Given the description of an element on the screen output the (x, y) to click on. 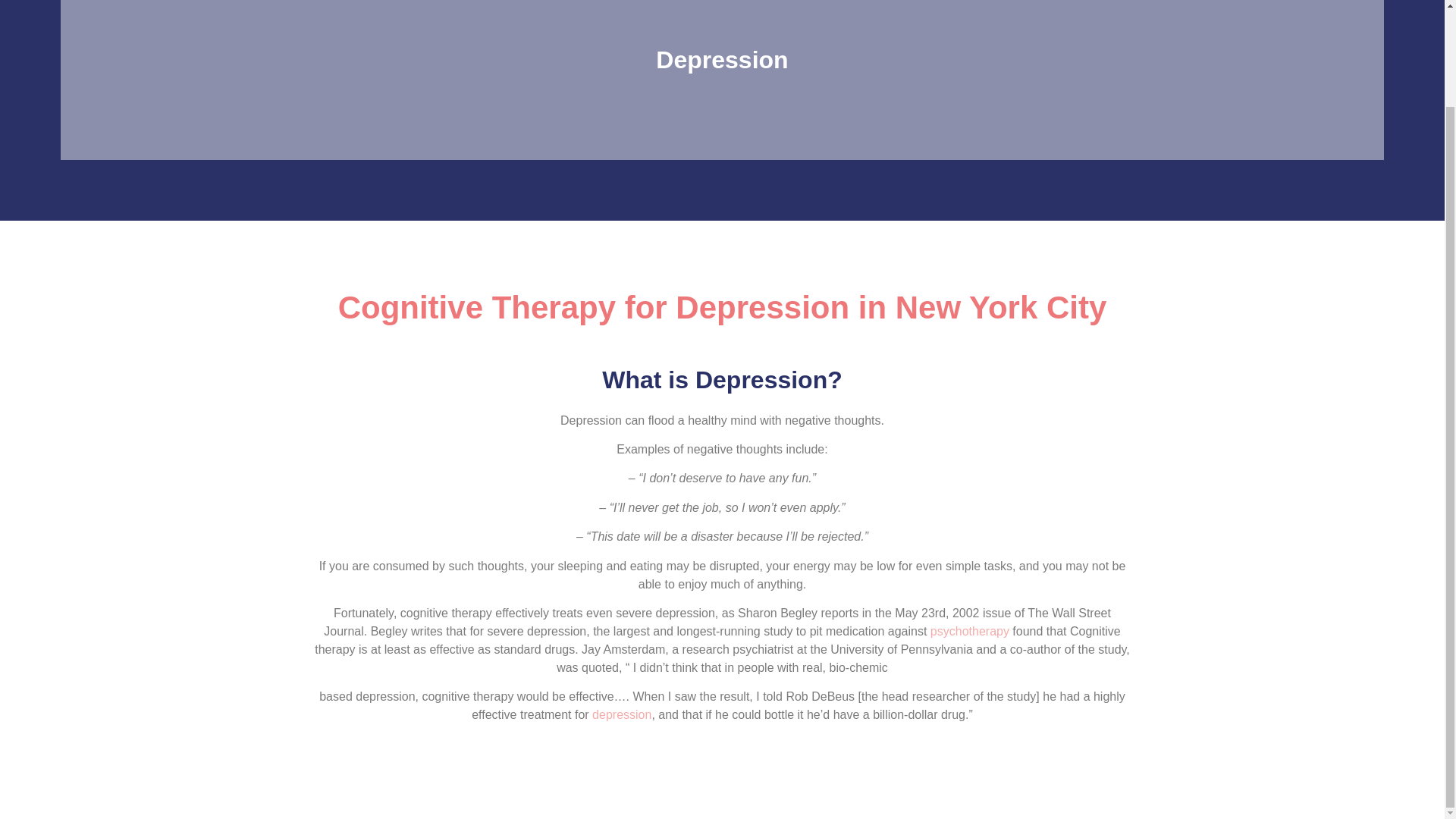
psychotherapy (969, 631)
depression (621, 714)
